Given the description of an element on the screen output the (x, y) to click on. 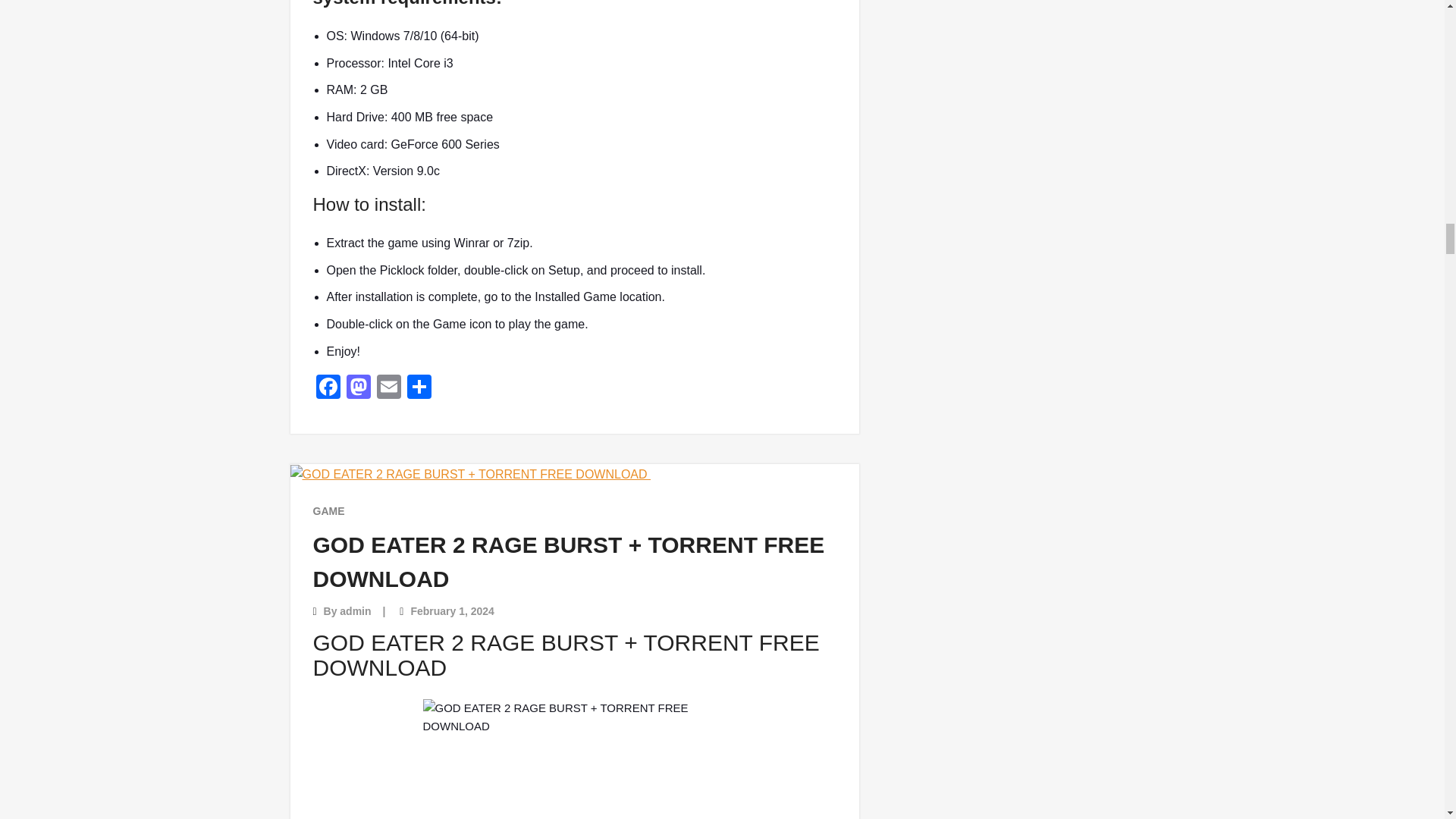
GAME (328, 510)
Facebook (327, 388)
Mastodon (357, 388)
Facebook (327, 388)
Email (387, 388)
Email (387, 388)
Mastodon (357, 388)
